Given the description of an element on the screen output the (x, y) to click on. 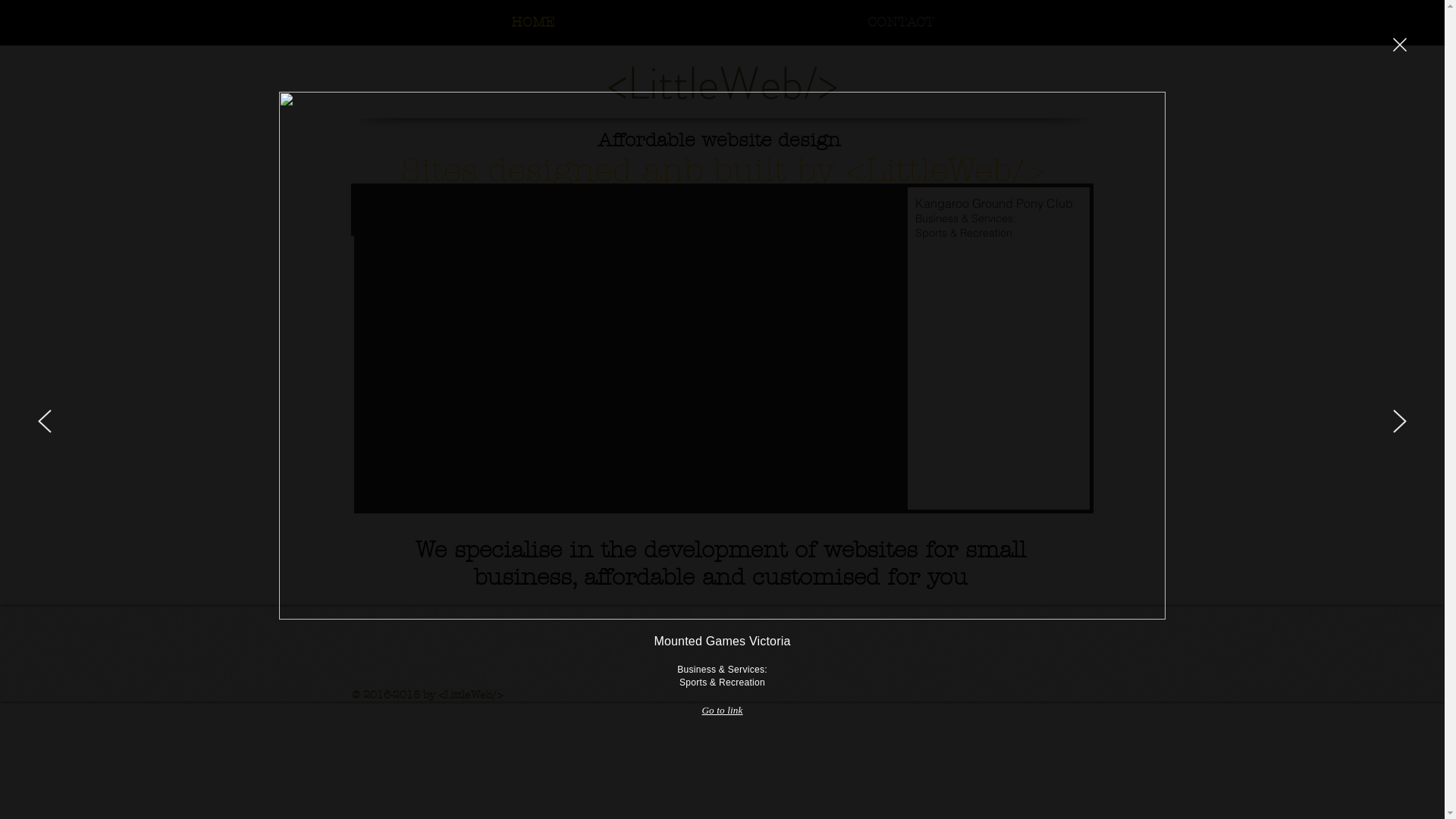
CONTACT Element type: text (900, 22)
Go to link Element type: text (722, 710)
HOME Element type: text (532, 22)
